Given the description of an element on the screen output the (x, y) to click on. 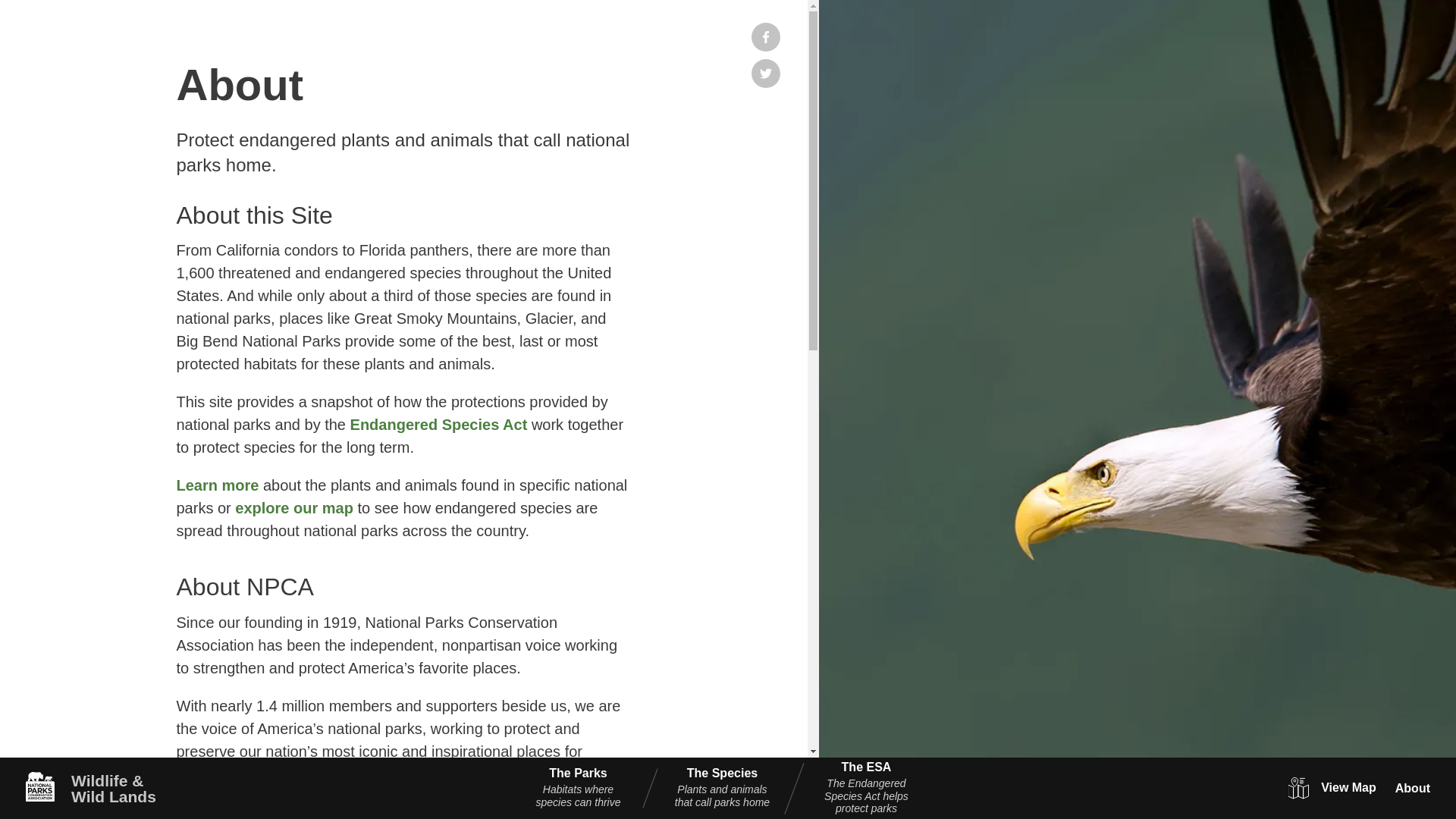
Share on Twitter (765, 72)
Share on Twitter (765, 72)
Learn more (217, 484)
Share on Facebook (765, 36)
explore our map (293, 507)
Share on Facebook (765, 36)
Endangered Species Act (438, 424)
